Given the description of an element on the screen output the (x, y) to click on. 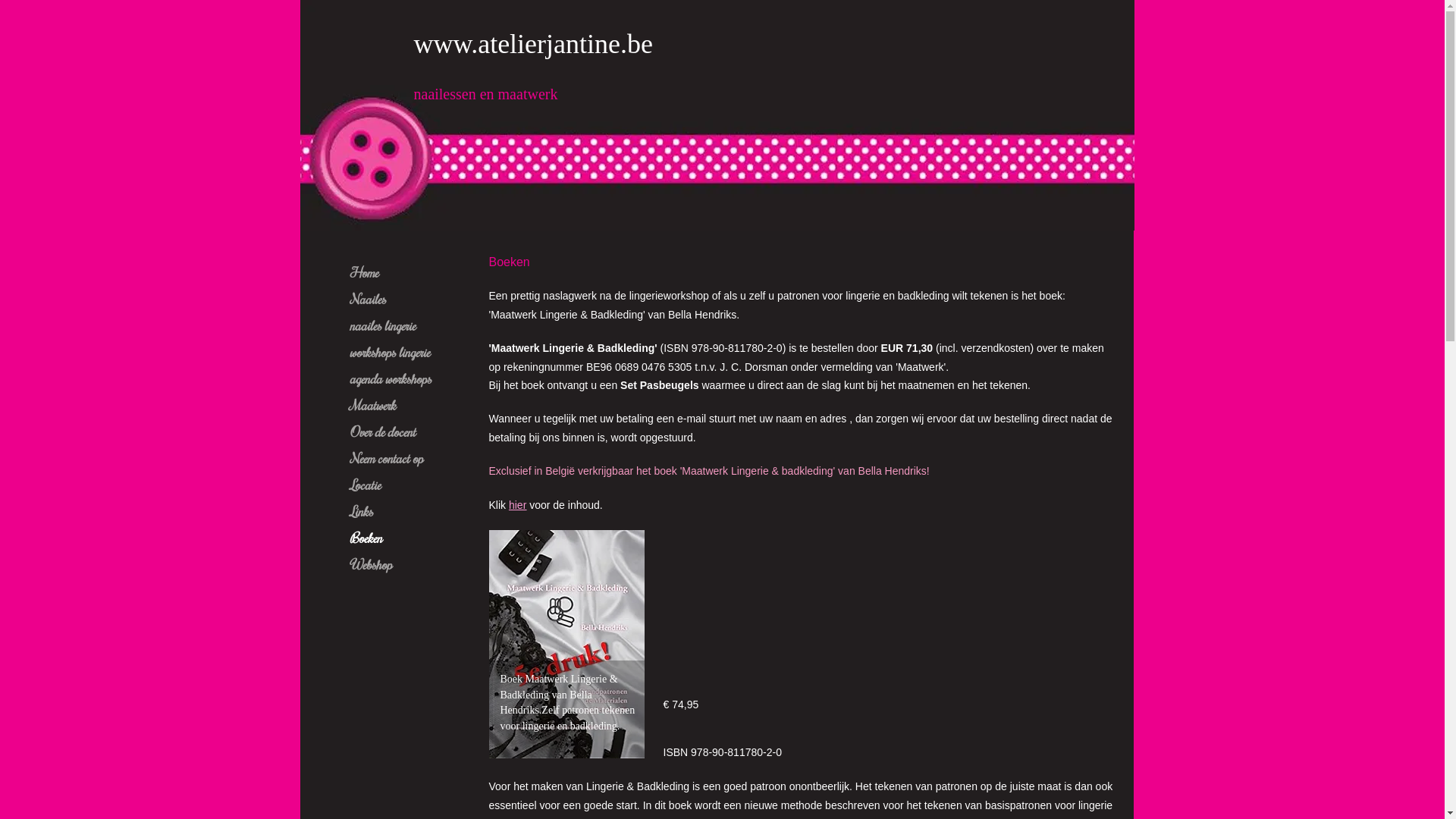
Maatwerk Element type: text (371, 404)
Neem contact op Element type: text (385, 457)
agenda workshops Element type: text (389, 378)
naailes lingerie Element type: text (381, 325)
workshops lingerie Element type: text (388, 351)
Home Element type: text (363, 272)
Naailes Element type: text (366, 298)
Links Element type: text (360, 510)
Webshop Element type: text (369, 564)
Locatie Element type: text (364, 484)
hier Element type: text (517, 504)
www.atelierjantine.be Element type: text (533, 43)
Boeken Element type: text (365, 537)
Over de docent Element type: text (381, 431)
